Given the description of an element on the screen output the (x, y) to click on. 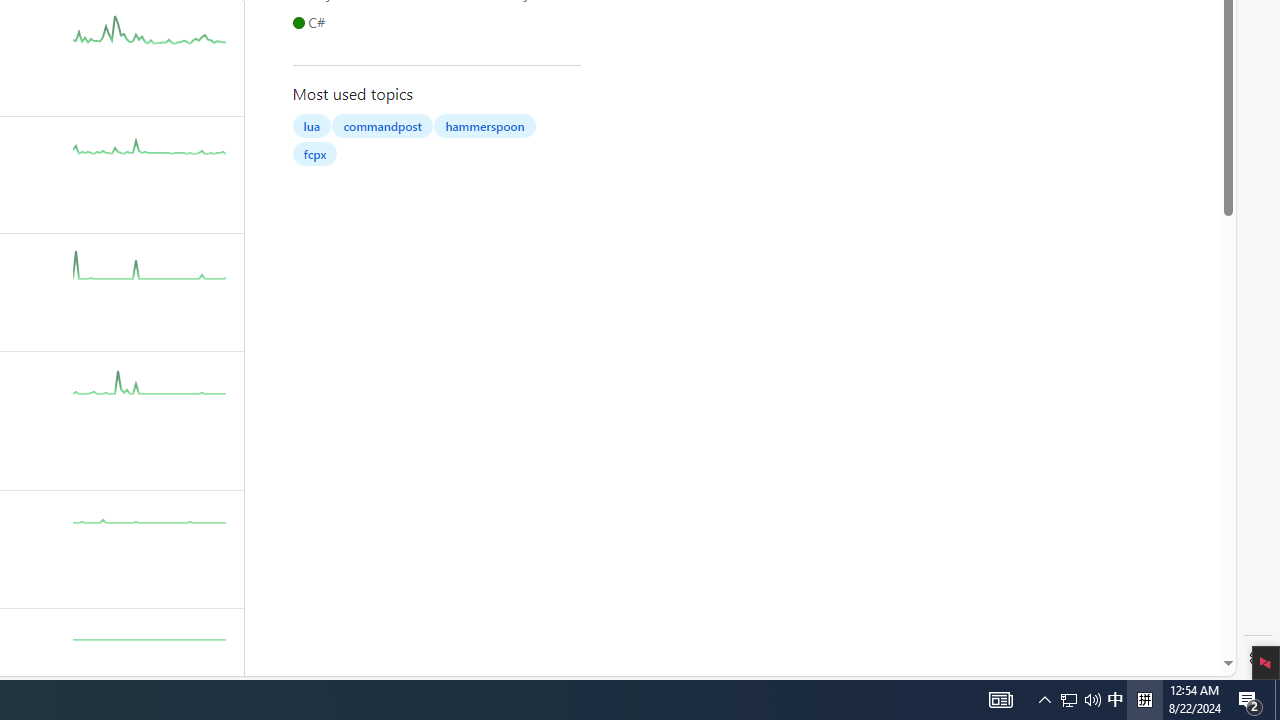
lua (311, 125)
commandpost (381, 125)
fcpx (314, 153)
hammerspoon (484, 125)
C# (312, 22)
